Given the description of an element on the screen output the (x, y) to click on. 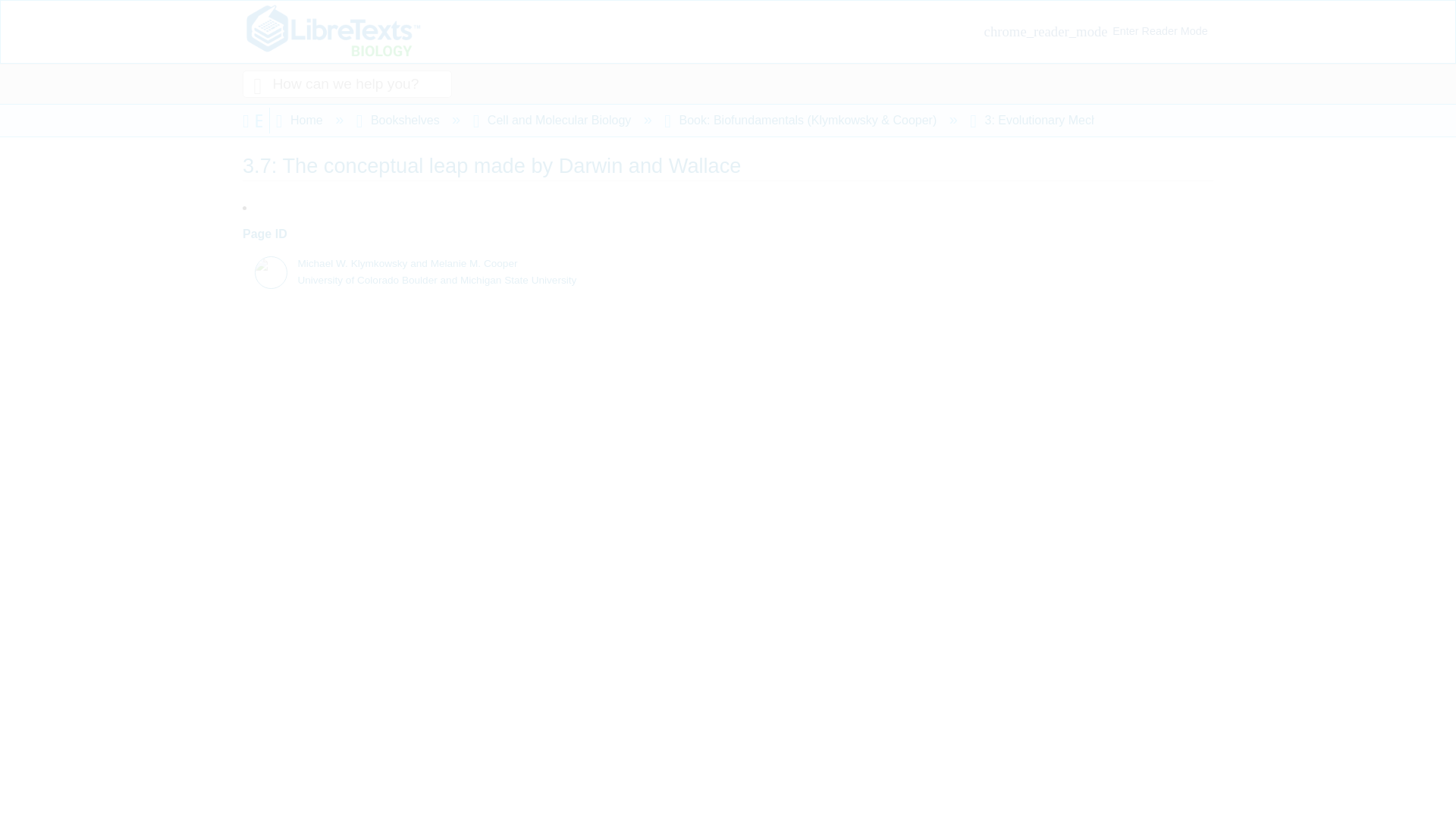
Michael W. Klymkowsky and Melanie M. Cooper (261, 264)
